Given the description of an element on the screen output the (x, y) to click on. 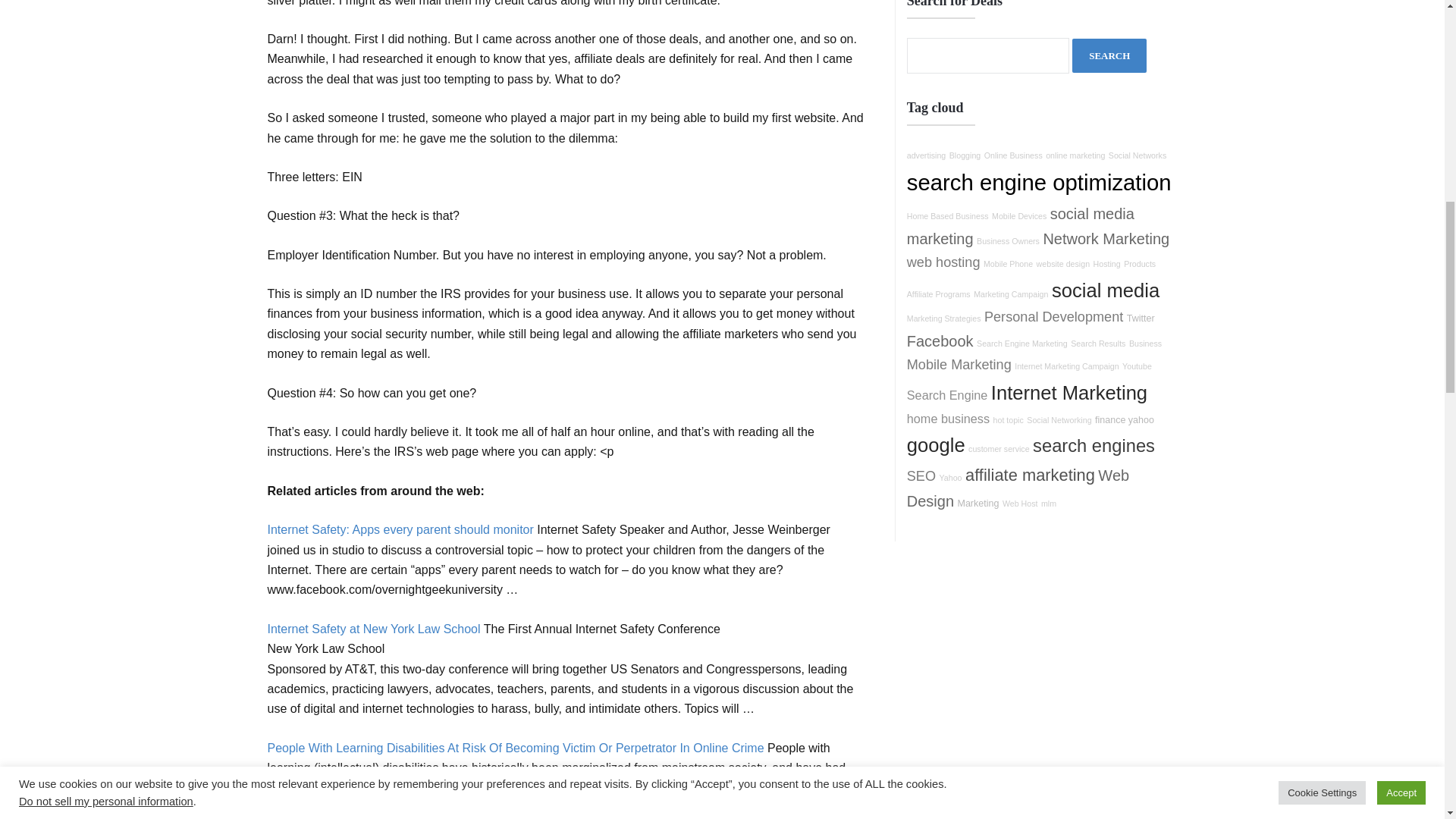
97 topics (943, 262)
38 topics (1063, 263)
29 topics (1075, 154)
Internet Safety: Apps every parent should monitor (399, 529)
108 topics (1105, 238)
36 topics (1013, 154)
Search (1109, 55)
34 topics (947, 215)
31 topics (1008, 263)
27 topics (926, 154)
27 topics (1007, 240)
38 topics (1018, 215)
110 topics (1020, 226)
39 topics (1137, 154)
